Given the description of an element on the screen output the (x, y) to click on. 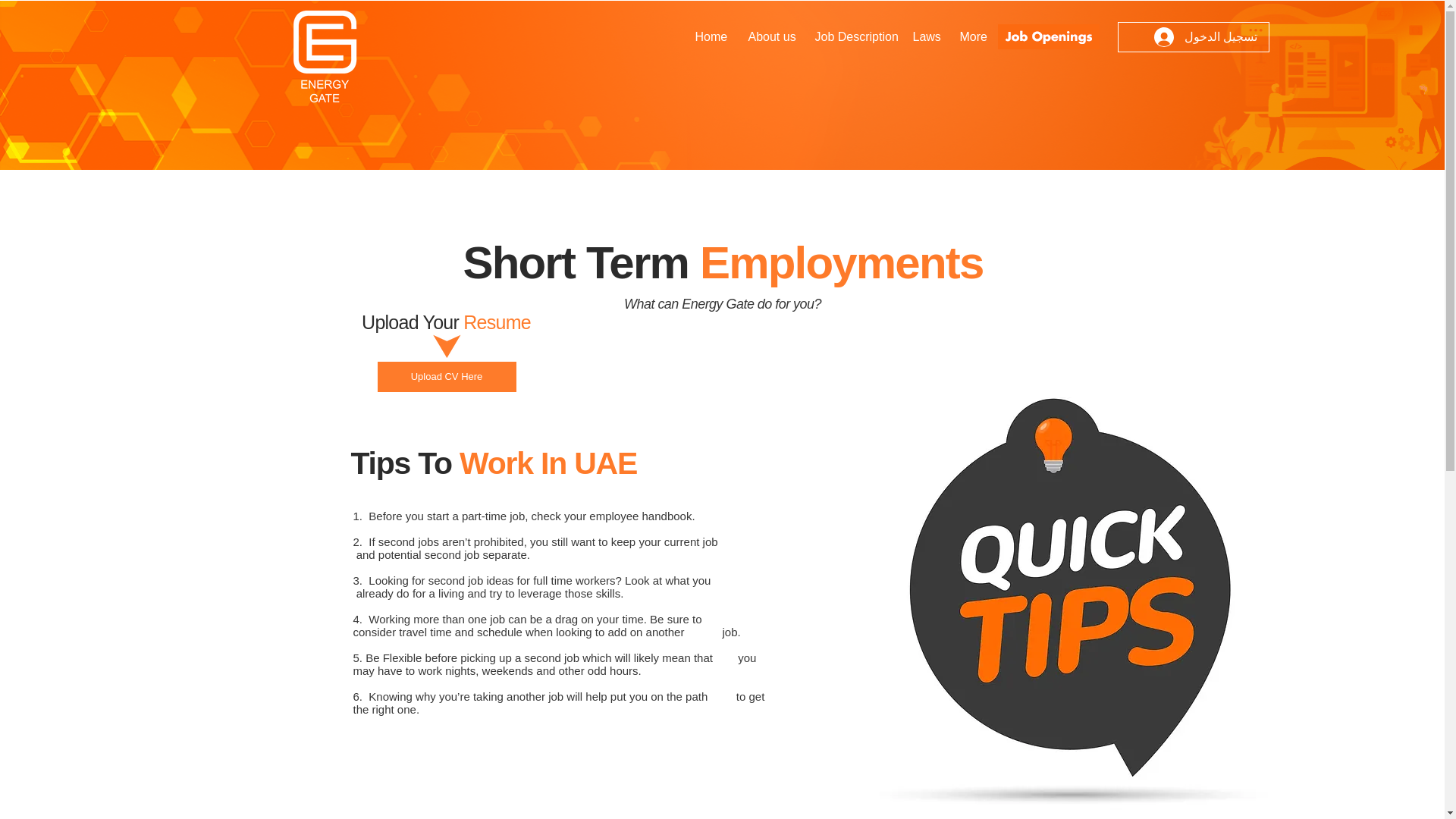
Upload CV Here (446, 376)
Home (710, 37)
Job Description (852, 37)
About us (769, 37)
